Given the description of an element on the screen output the (x, y) to click on. 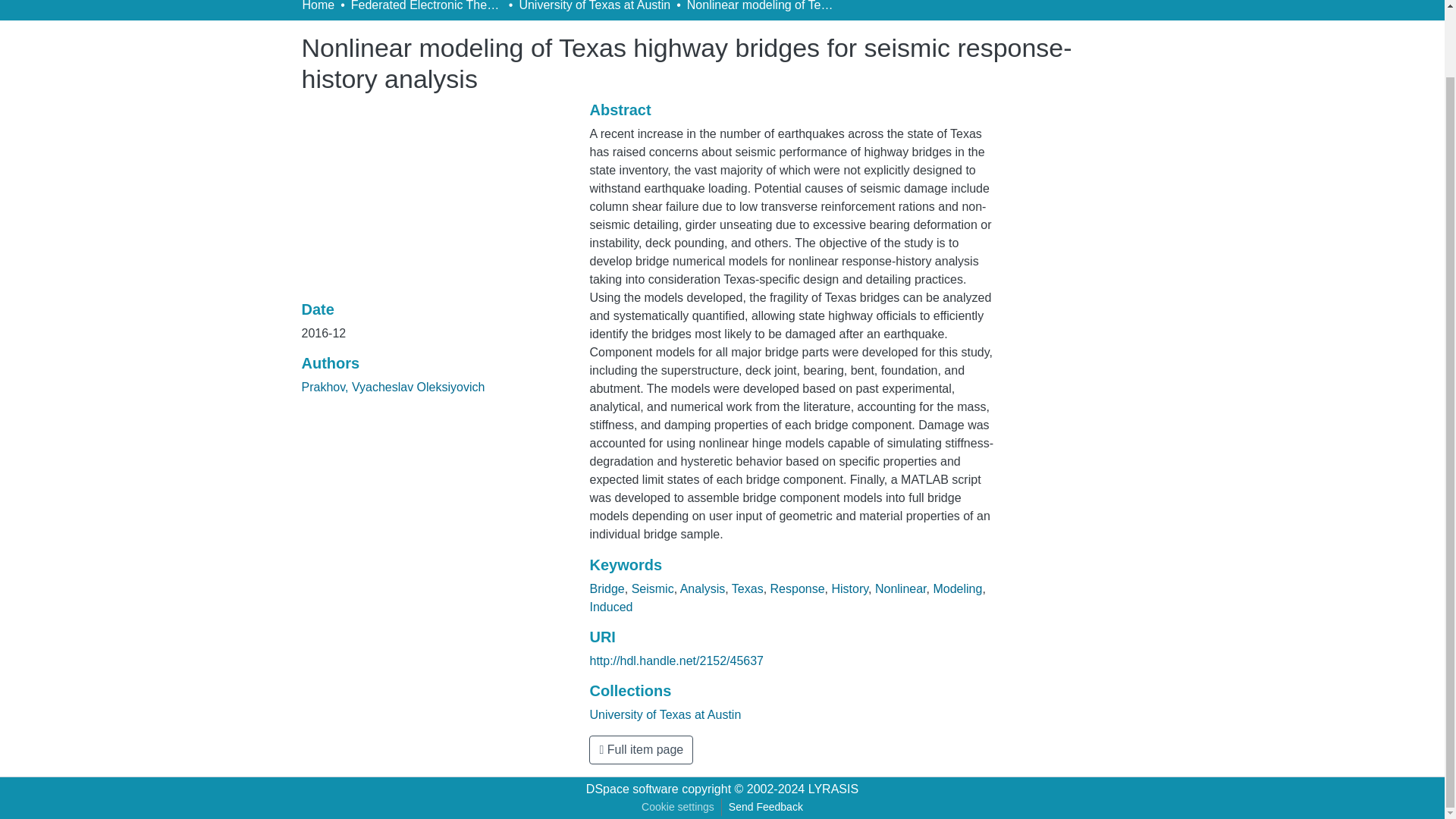
Induced (610, 606)
Cookie settings (677, 806)
University of Texas at Austin (593, 7)
Nonlinear (900, 588)
Analysis (702, 588)
Full item page (641, 749)
Home (317, 7)
Send Feedback (765, 806)
Bridge (606, 588)
Texas (747, 588)
Seismic (652, 588)
Response (797, 588)
Prakhov, Vyacheslav Oleksiyovich (392, 386)
DSpace software (632, 788)
Federated Electronic Theses and Dissertations (426, 7)
